Given the description of an element on the screen output the (x, y) to click on. 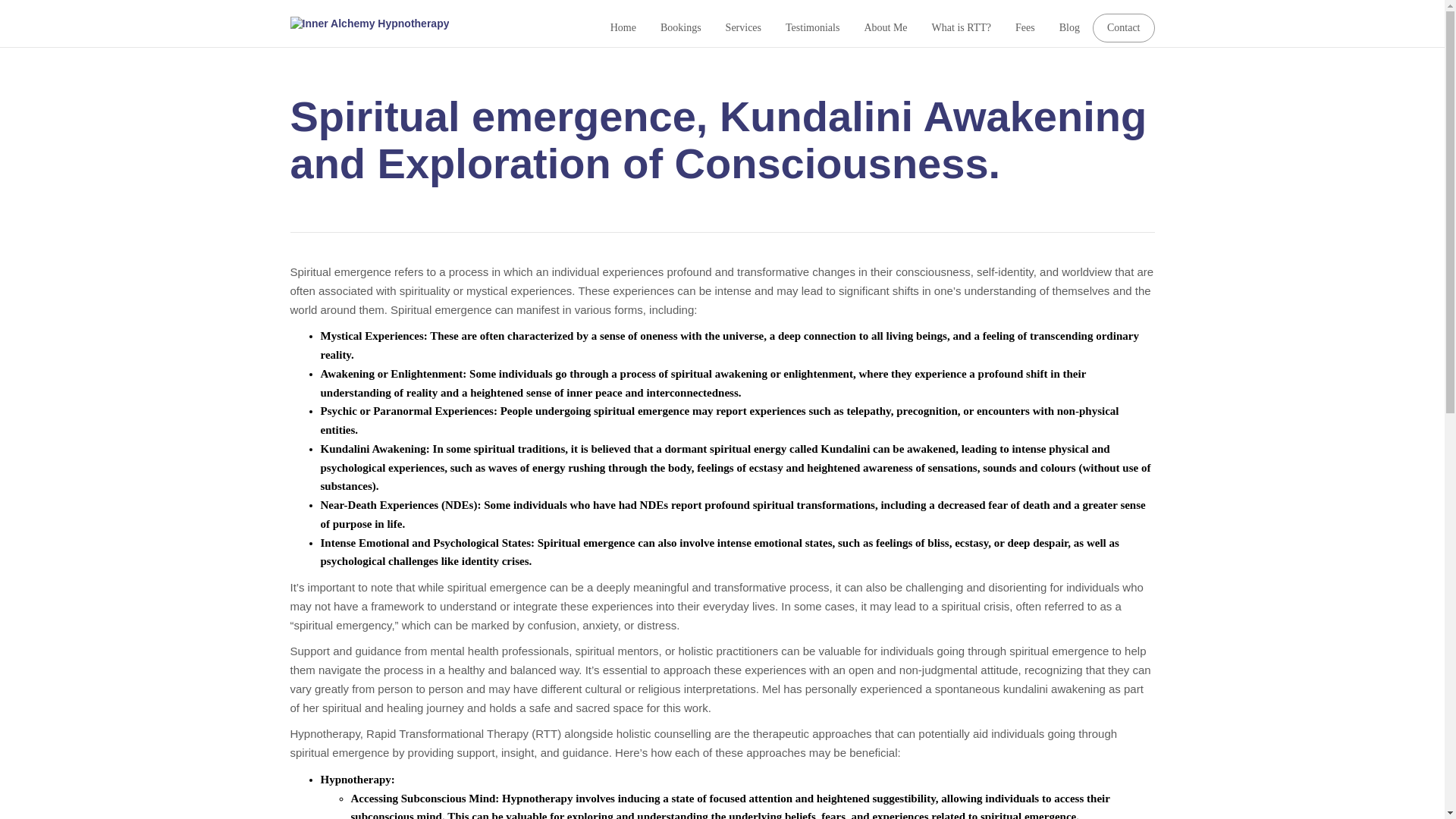
What is RTT? (961, 27)
Contact (1123, 28)
Testimonials (813, 27)
About Me (885, 27)
Services (743, 27)
Bookings (681, 27)
